Given the description of an element on the screen output the (x, y) to click on. 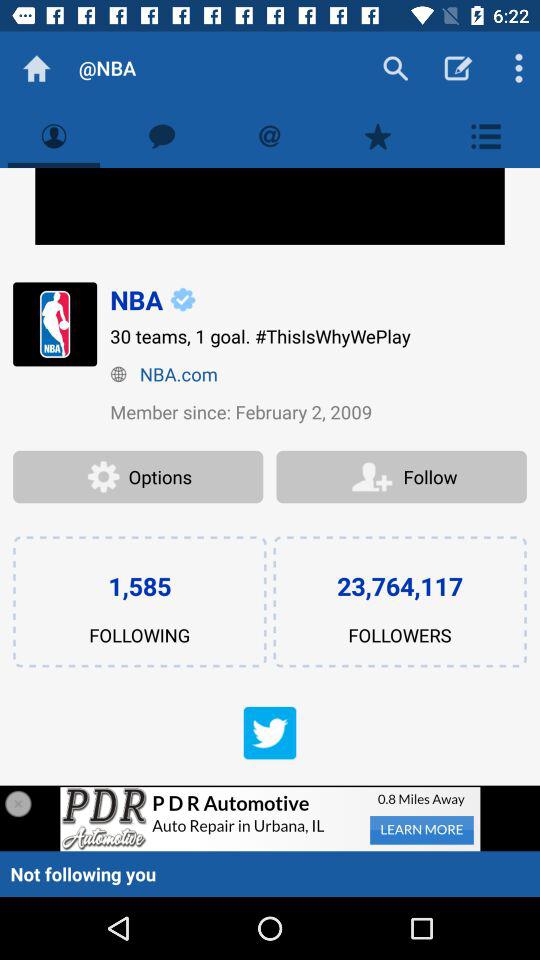
click on the first tap from right in second line (486, 136)
click on edit button which is in between search option and three dot menu (458, 68)
click on nbacom (318, 373)
click on follow option (401, 477)
go to the icon left to nba (54, 323)
click on the text 1585 following (139, 601)
